Given the description of an element on the screen output the (x, y) to click on. 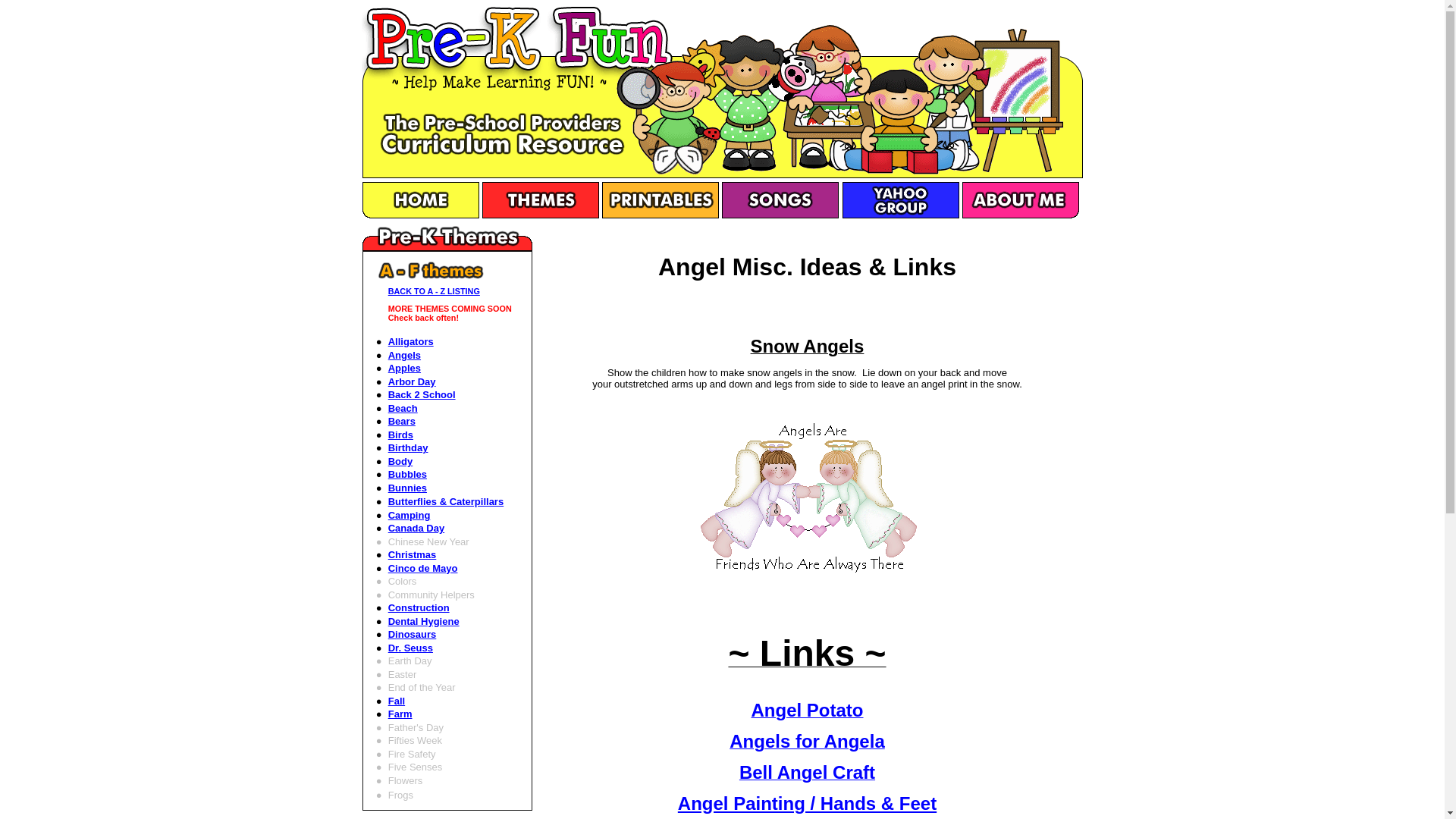
Christmas (412, 554)
BACK TO A - Z LISTING (434, 290)
LA LA LA... Gather around kids, let's sing a song. (780, 199)
Beach (402, 408)
Bell Angel Craft (807, 775)
Arbor Day (411, 381)
Bears (401, 420)
Bunnies (407, 487)
Return to the Pre-K Fun Home Page. (420, 214)
Dr. Seuss (410, 647)
Apples (404, 367)
Camping (409, 514)
A to Z, the themes you're looking for! (539, 214)
Angel Potato (807, 713)
Construction (418, 607)
